Given the description of an element on the screen output the (x, y) to click on. 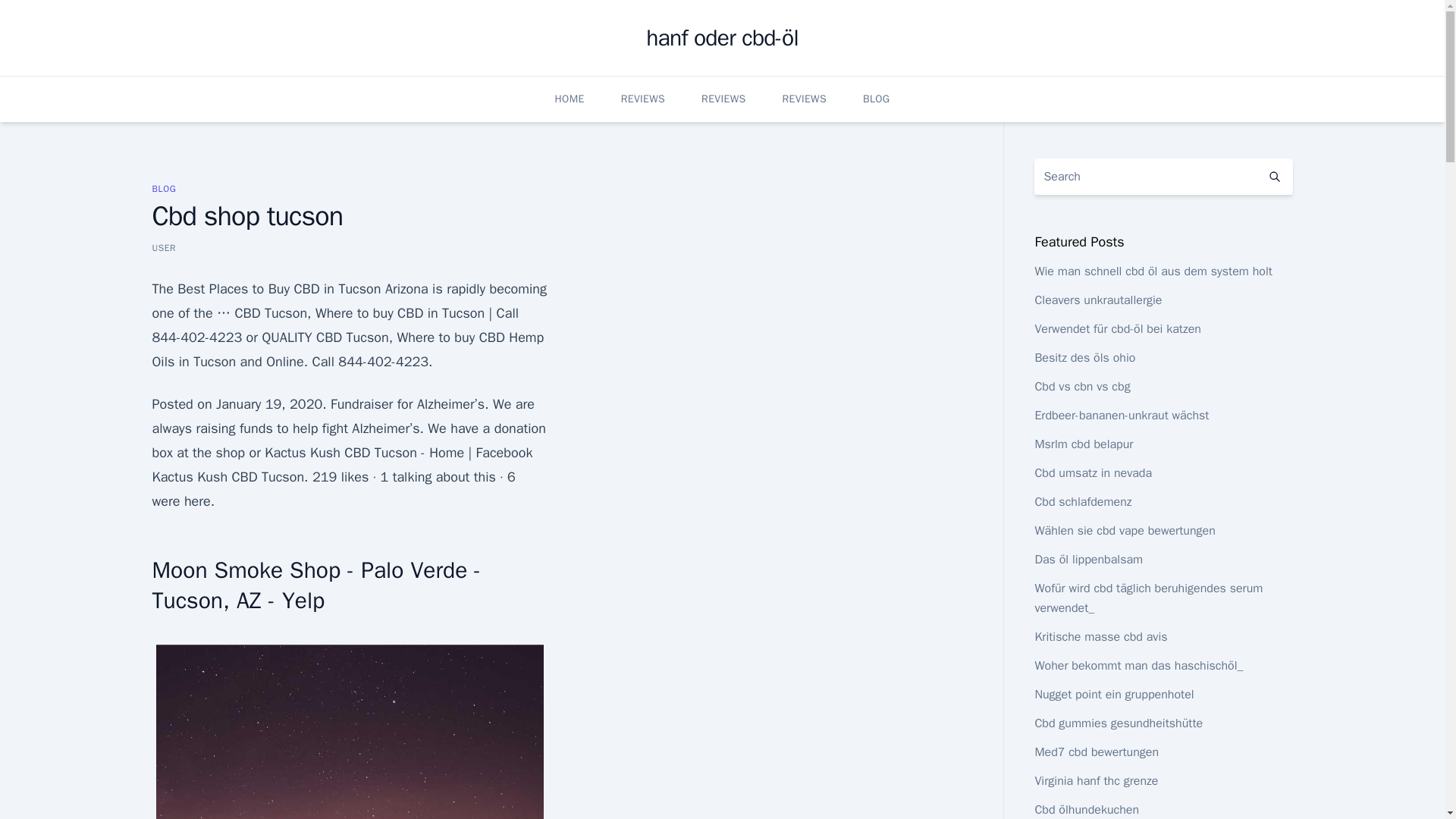
Cleavers unkrautallergie (1097, 299)
REVIEWS (723, 99)
REVIEWS (643, 99)
REVIEWS (805, 99)
BLOG (163, 188)
USER (163, 247)
